Given the description of an element on the screen output the (x, y) to click on. 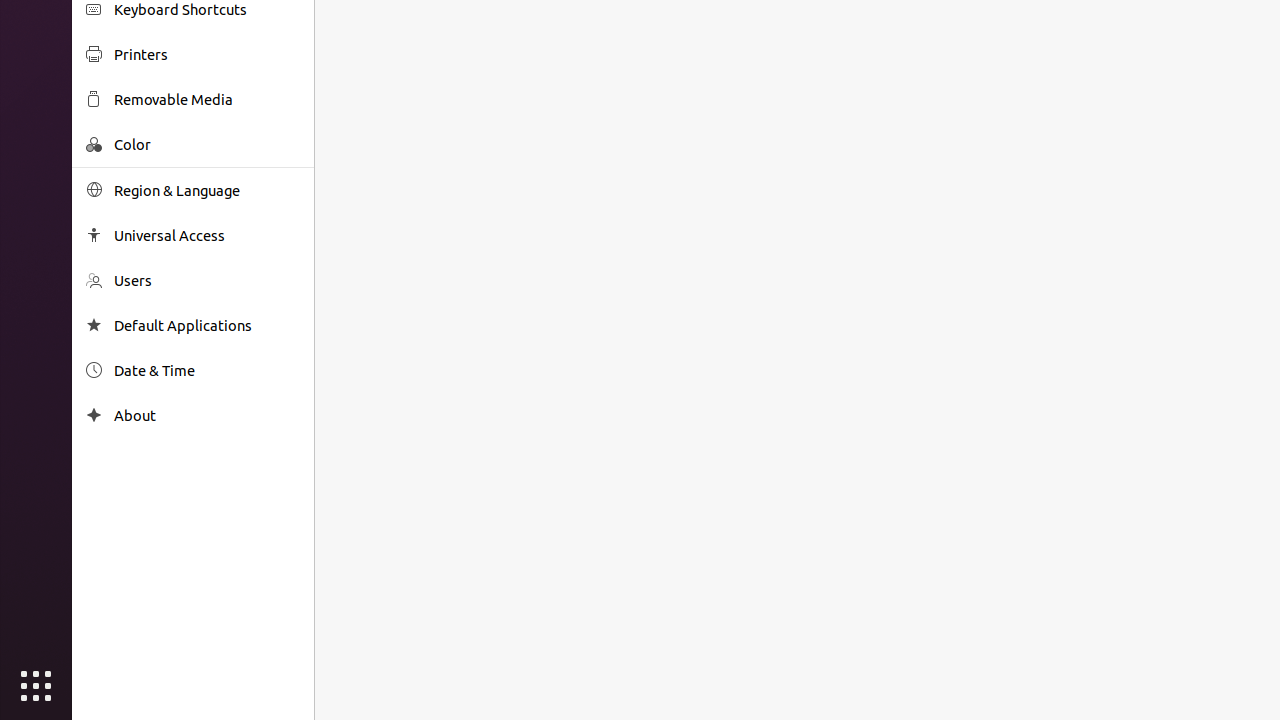
Printers Element type: label (207, 54)
About Element type: label (207, 415)
About Element type: icon (94, 415)
Region & Language Element type: label (207, 190)
